Given the description of an element on the screen output the (x, y) to click on. 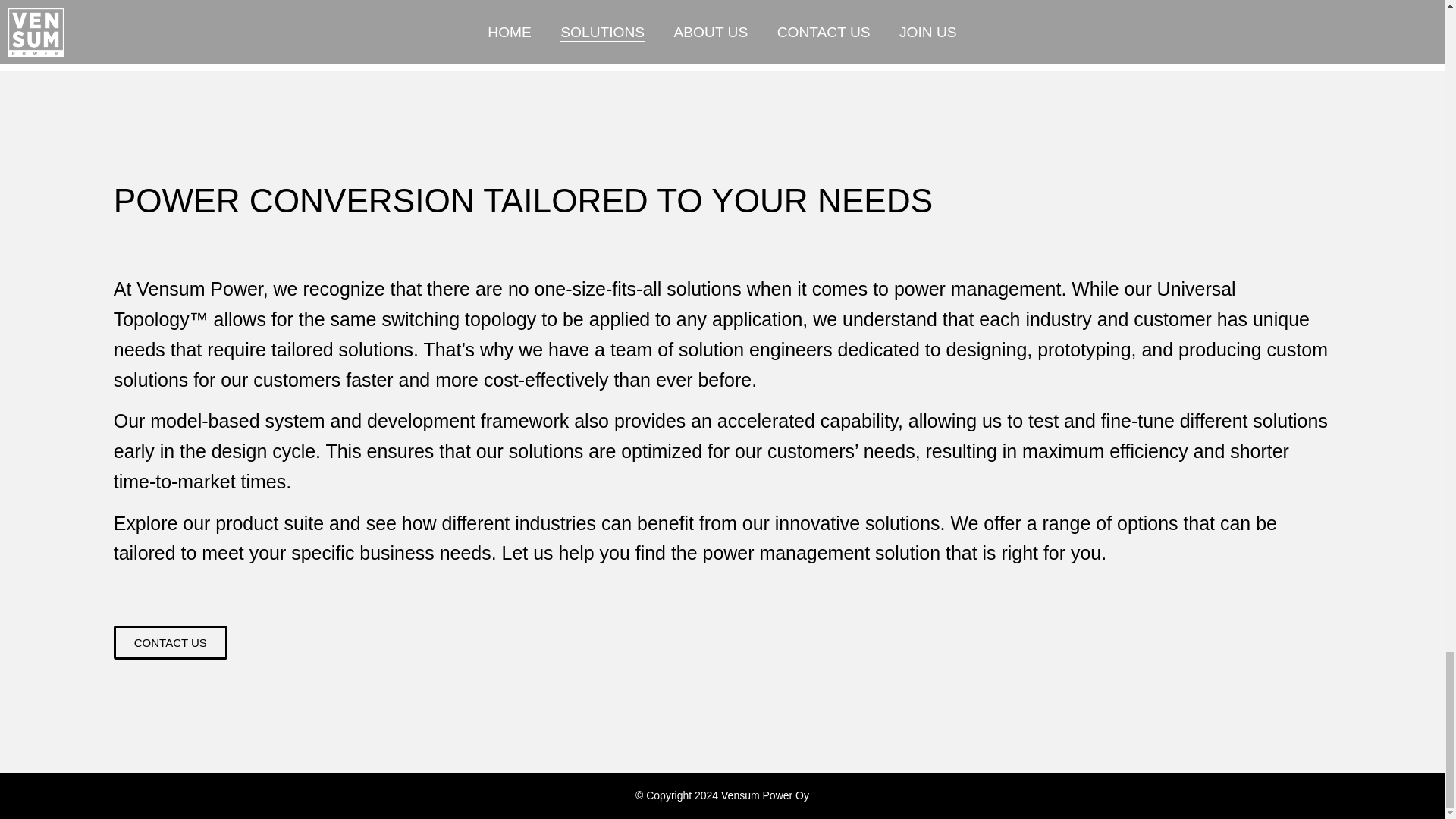
CONTACT US (170, 642)
